Given the description of an element on the screen output the (x, y) to click on. 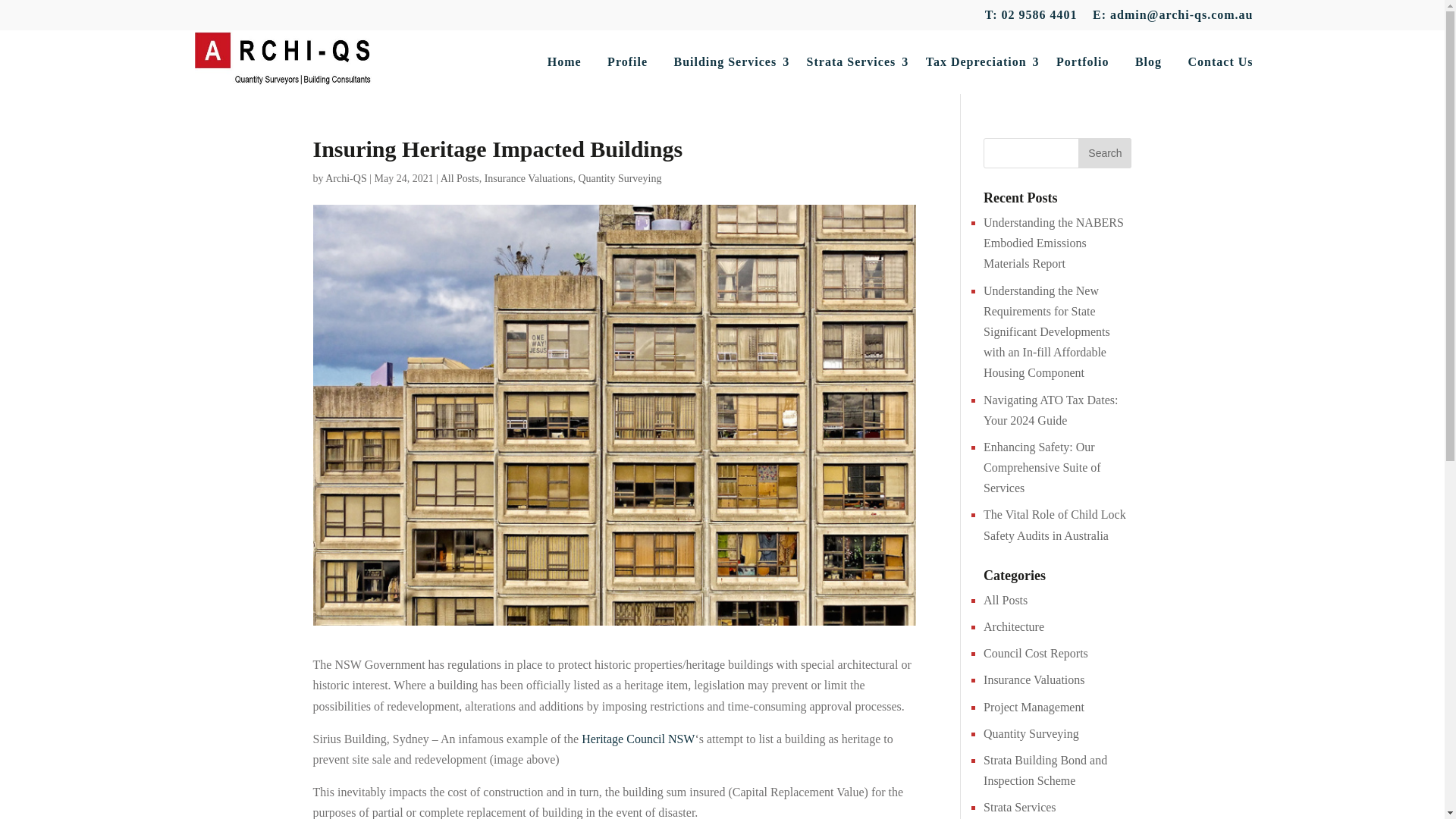
Posts by Archi-QS (345, 178)
Home (563, 61)
Building Services (727, 61)
Search (1104, 153)
Tax Depreciation (978, 61)
Contact Us (1220, 61)
Blog (1148, 61)
Profile (627, 61)
T: 02 9586 4401 (1031, 19)
Portfolio (1082, 61)
Strata Services (852, 61)
